Given the description of an element on the screen output the (x, y) to click on. 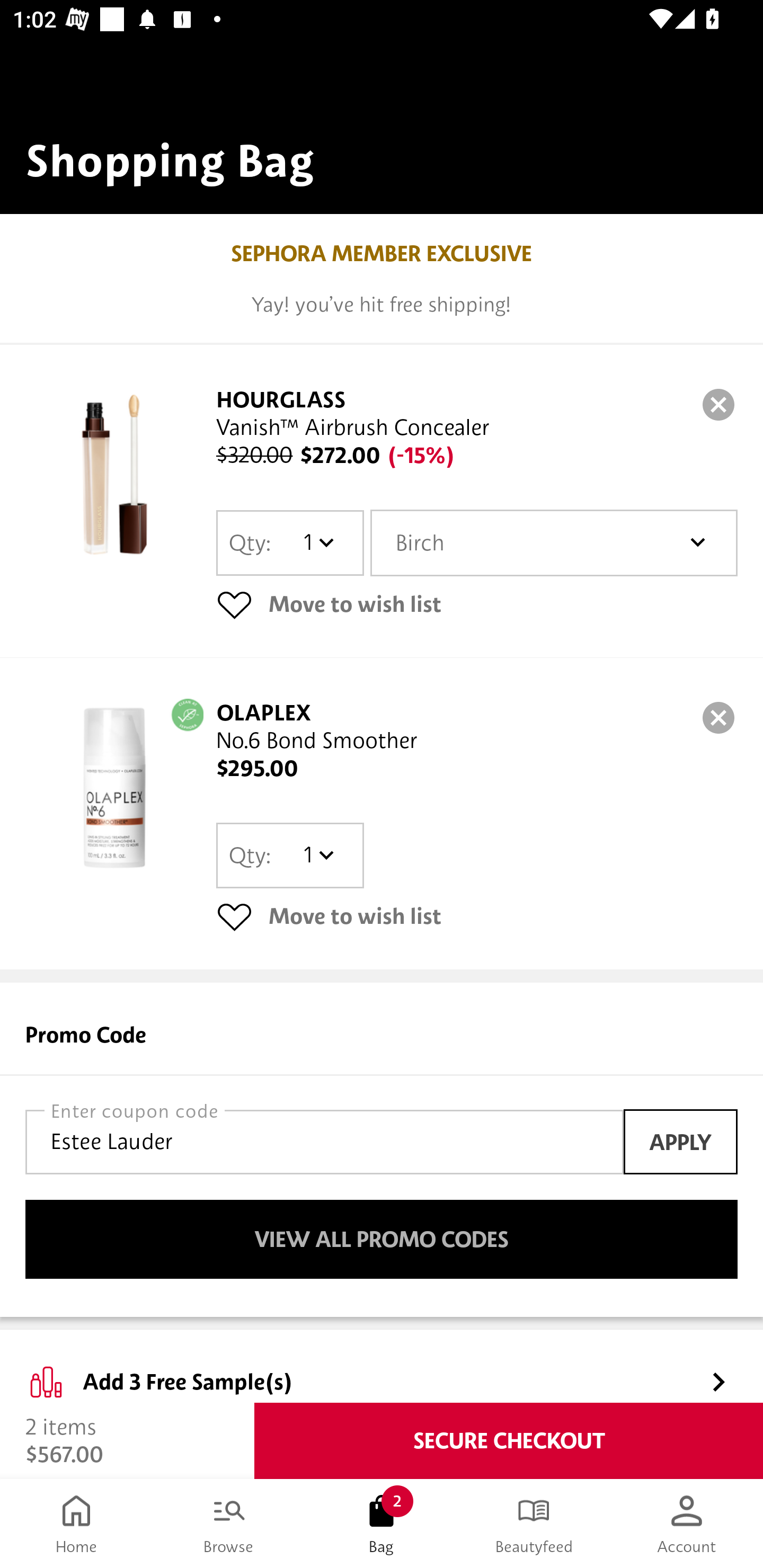
Birch (553, 542)
1 (317, 542)
Move to wish list (476, 604)
1 (317, 855)
Move to wish list (476, 916)
Promo Code Estee Lauder APPLY VIEW ALL PROMO CODES (381, 1150)
APPLY (680, 1141)
Estee Lauder (324, 1142)
VIEW ALL PROMO CODES (381, 1239)
Add 3 Free Sample(s) (381, 1366)
SECURE CHECKOUT (508, 1440)
Home (76, 1523)
Browse (228, 1523)
Beautyfeed (533, 1523)
Account (686, 1523)
